Given the description of an element on the screen output the (x, y) to click on. 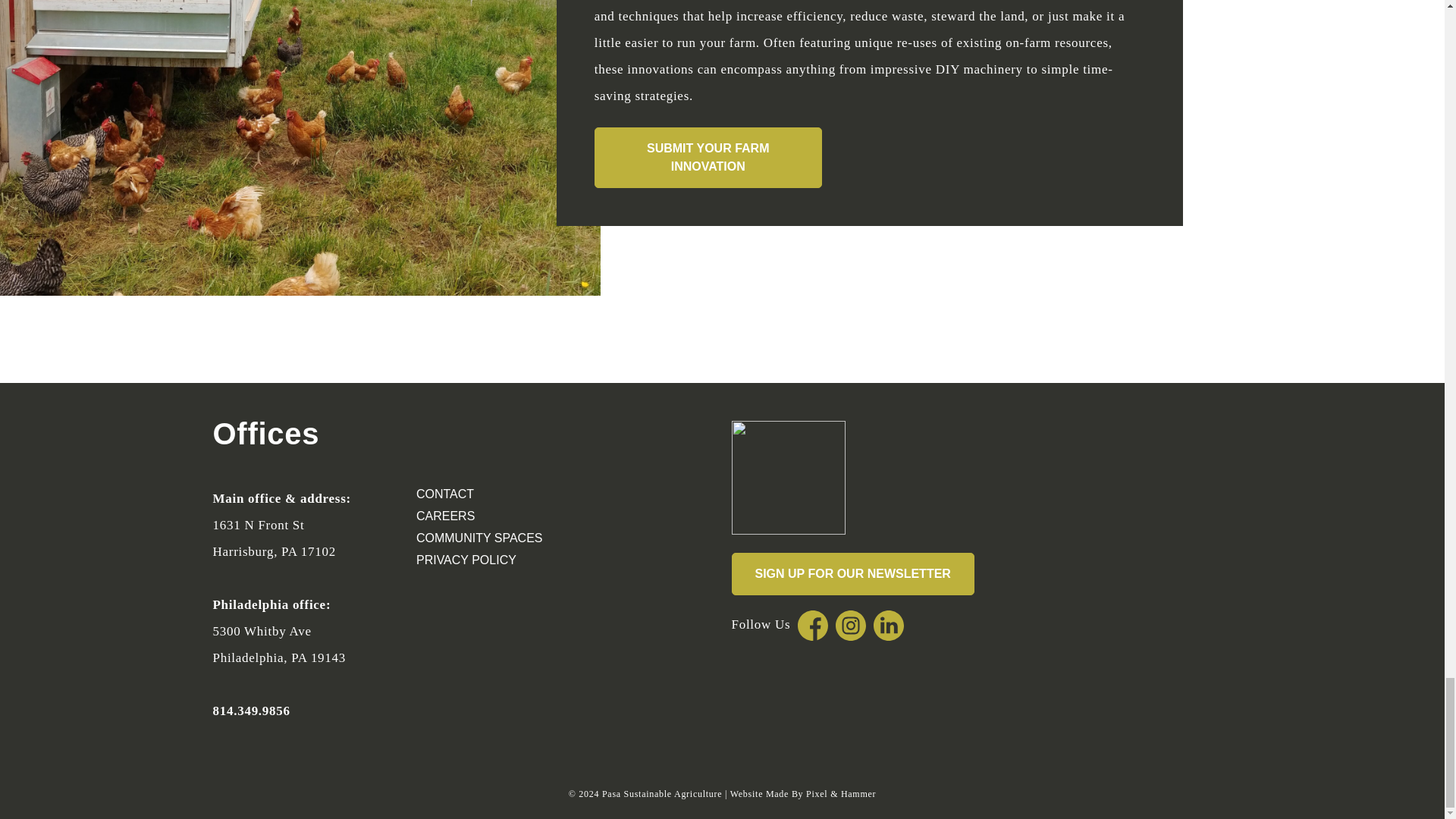
CONTACT (515, 494)
CAREERS (515, 515)
SUBMIT YOUR FARM INNOVATION (708, 157)
